Given the description of an element on the screen output the (x, y) to click on. 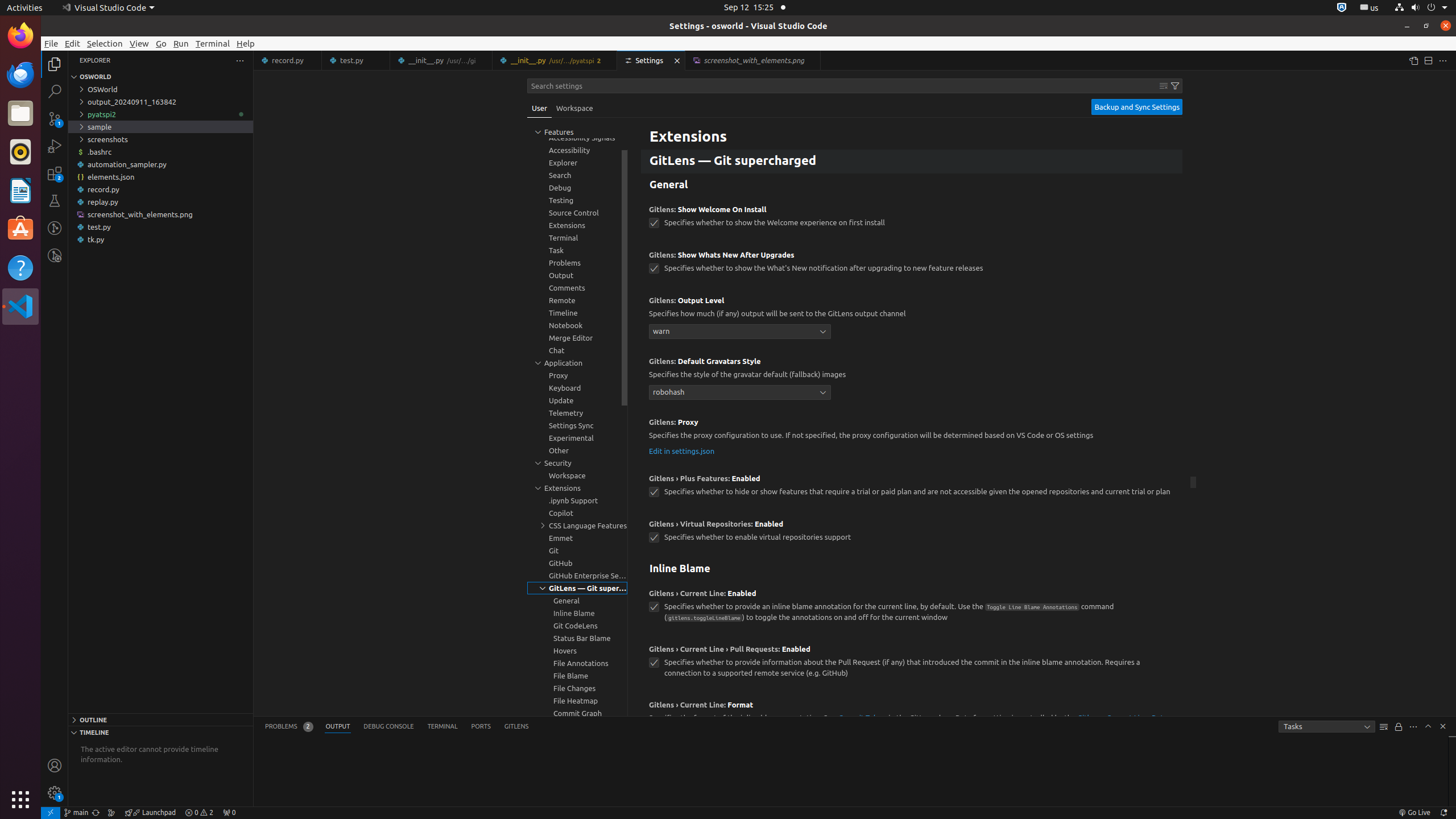
warn Element type: menu-item (739, 330)
Backup and Sync Settings Element type: push-button (1136, 106)
Source Control, group Element type: tree-item (577, 212)
File Changes, group Element type: tree-item (577, 687)
Inline Blame Element type: tree-item (911, 569)
